Given the description of an element on the screen output the (x, y) to click on. 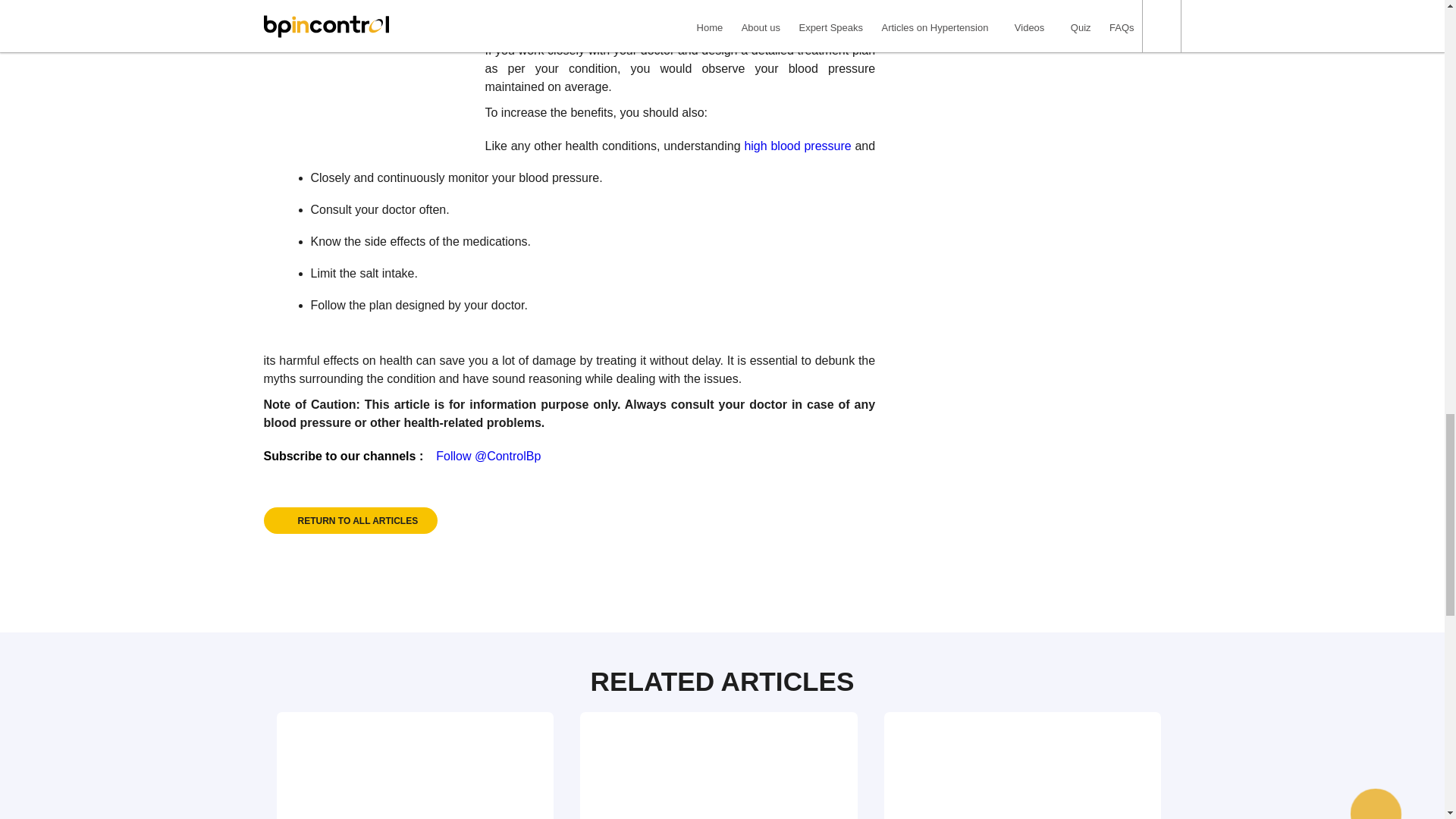
RETURN TO ALL ARTICLES (350, 519)
high blood pressure (797, 145)
